Given the description of an element on the screen output the (x, y) to click on. 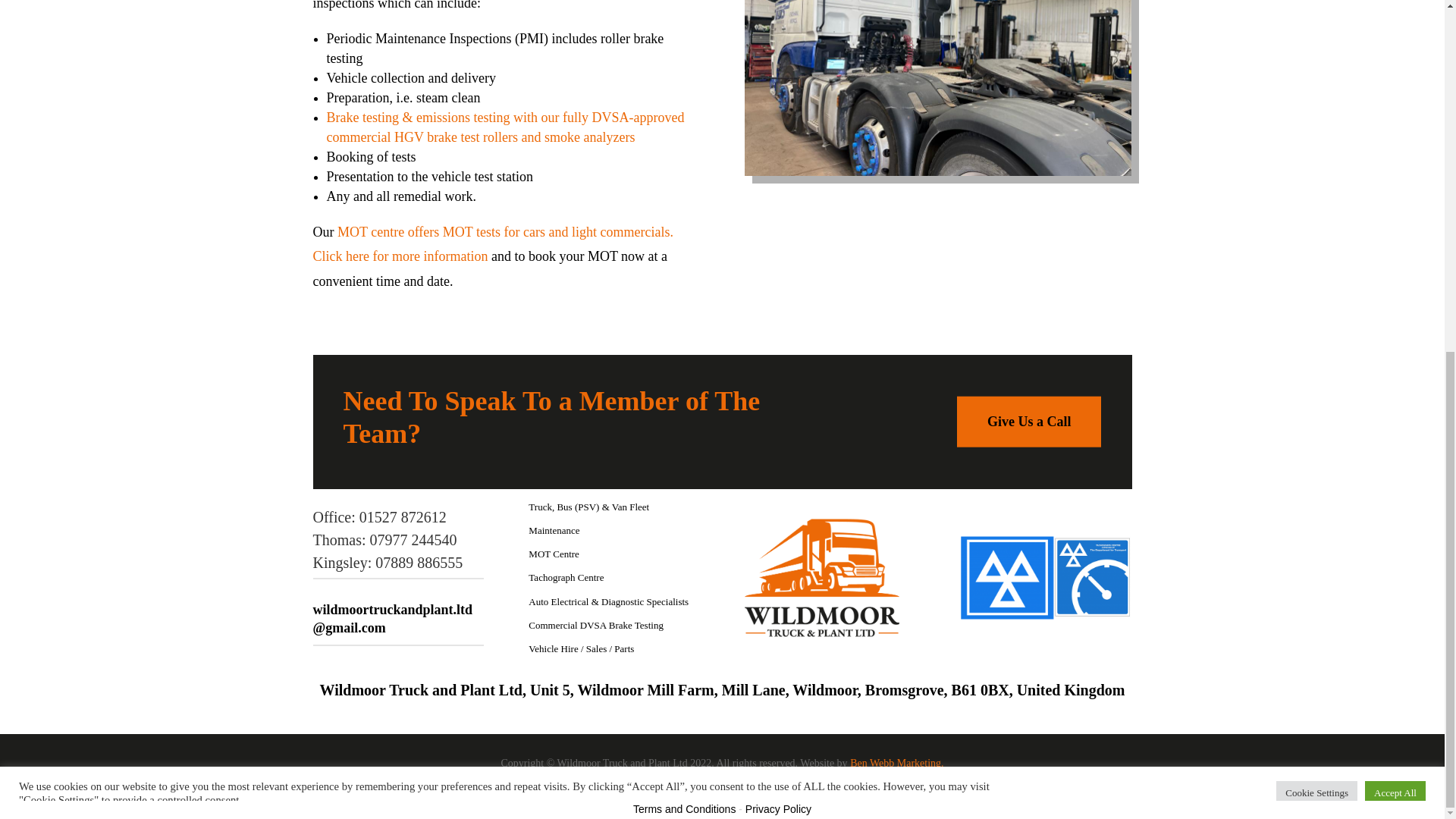
wm (821, 577)
be521c12-5cc9-49a0-b31f-c5e6ad1bdbde (937, 88)
Tachograph Centre (566, 577)
Thomas: 07977 244540 (385, 539)
Office: 01527 872612 (379, 516)
Give Us a Call (1029, 421)
MOT Centre (553, 553)
Mot Logos (1045, 577)
Kingsley: 07889 886555 (388, 562)
